Given the description of an element on the screen output the (x, y) to click on. 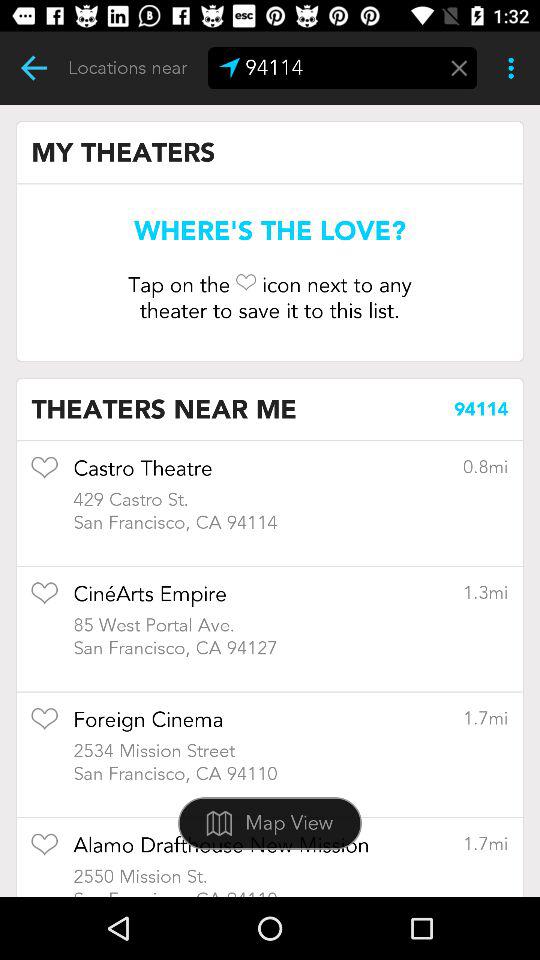
click the heart (44, 850)
